Given the description of an element on the screen output the (x, y) to click on. 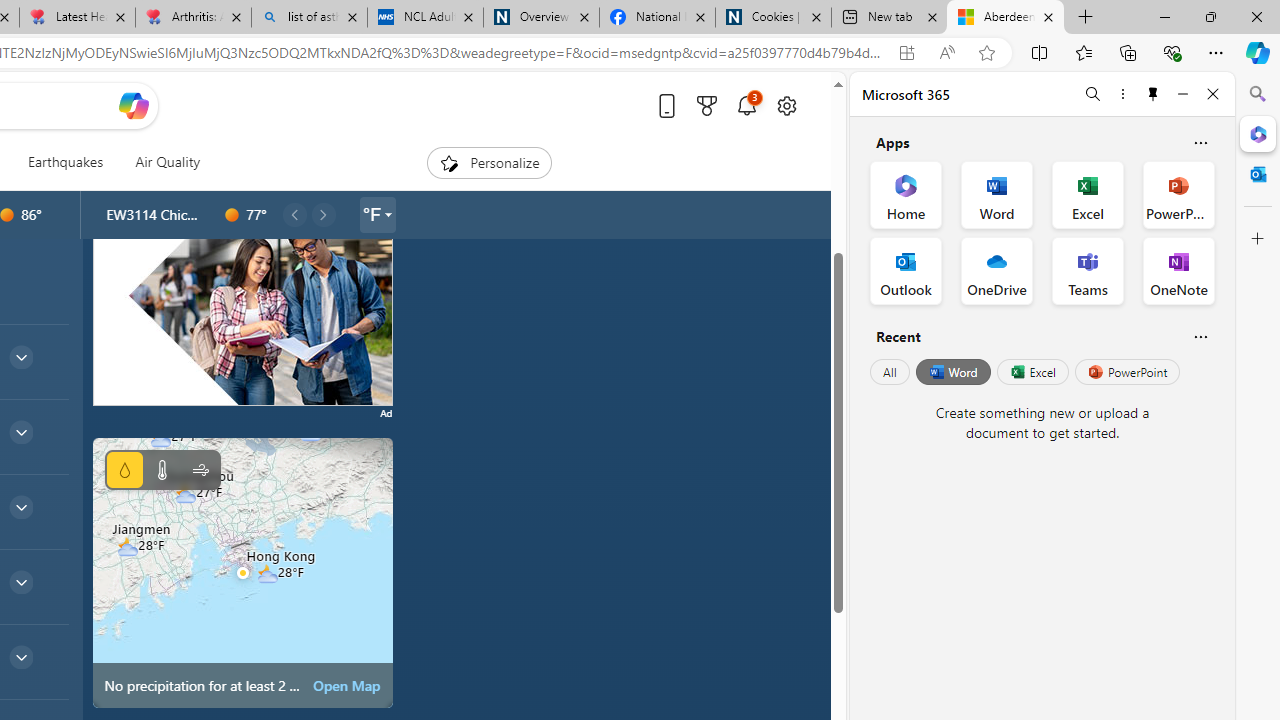
Wind (199, 470)
common/thinArrow (20, 656)
Home Office App (906, 194)
Temperature (161, 470)
static map image of vector map (242, 572)
Precipitation (124, 470)
AutomationID: canvas (242, 281)
